Given the description of an element on the screen output the (x, y) to click on. 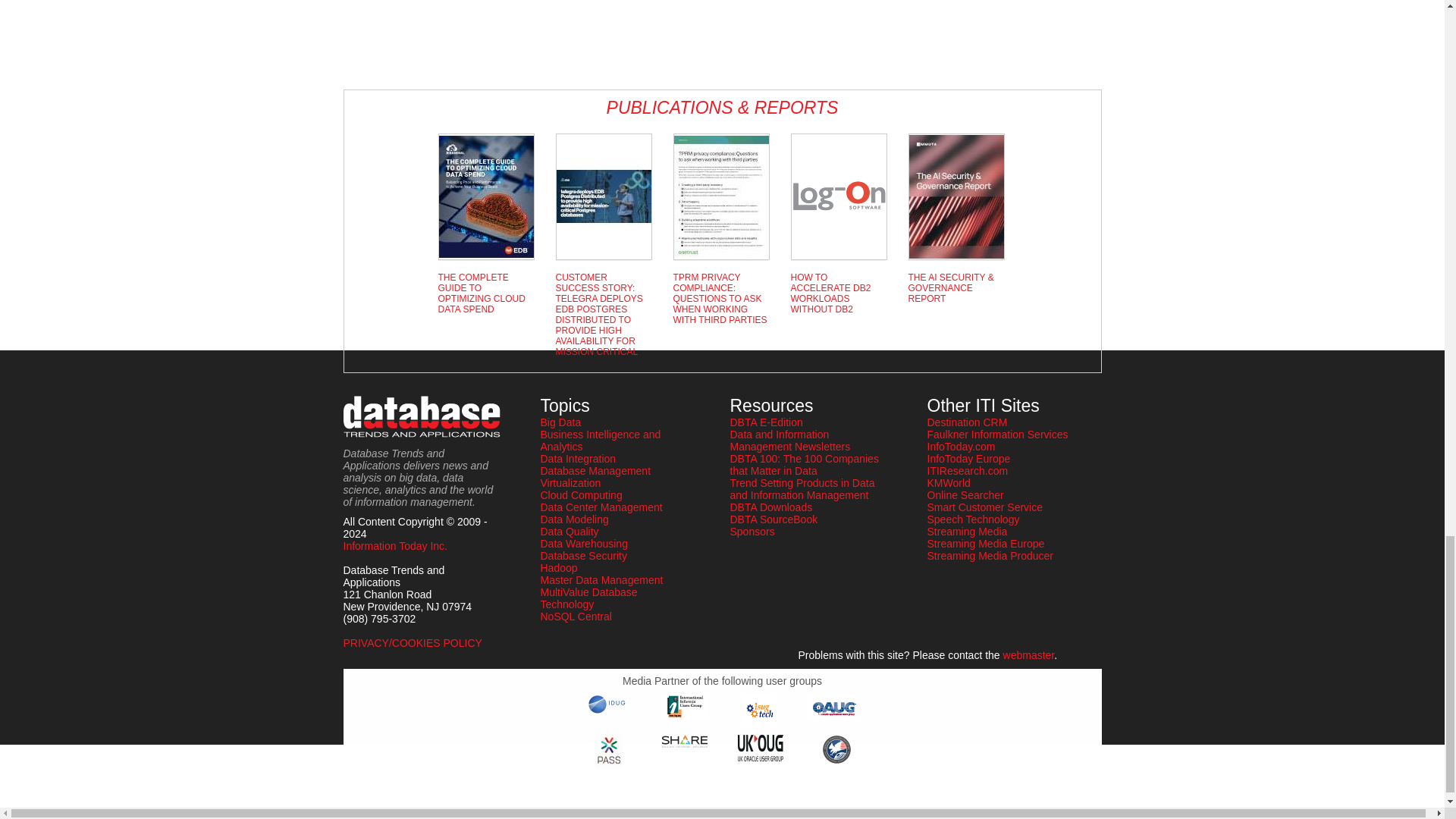
3rd party ad content (403, 39)
